Given the description of an element on the screen output the (x, y) to click on. 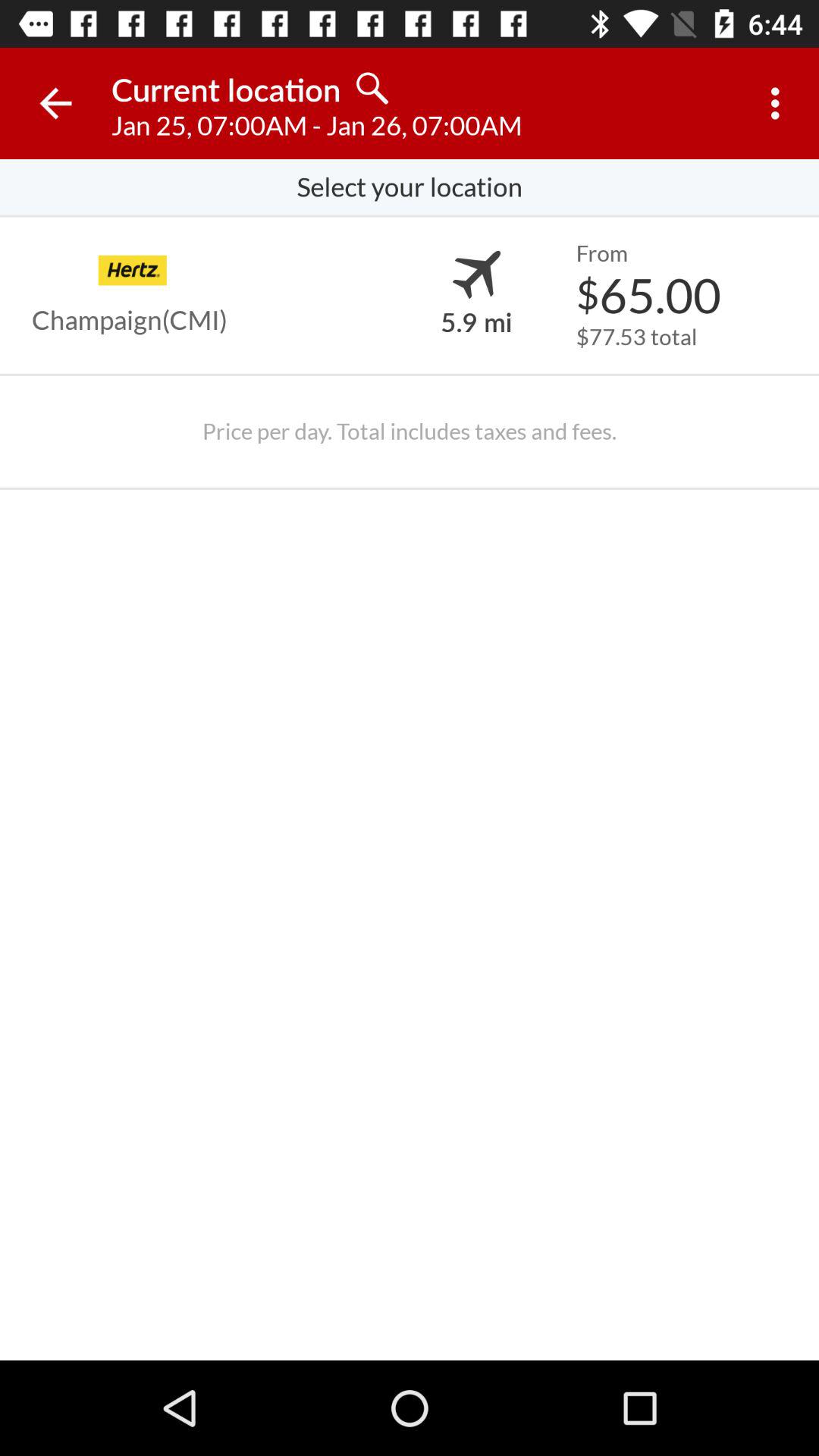
turn off the icon above select your location icon (55, 103)
